Given the description of an element on the screen output the (x, y) to click on. 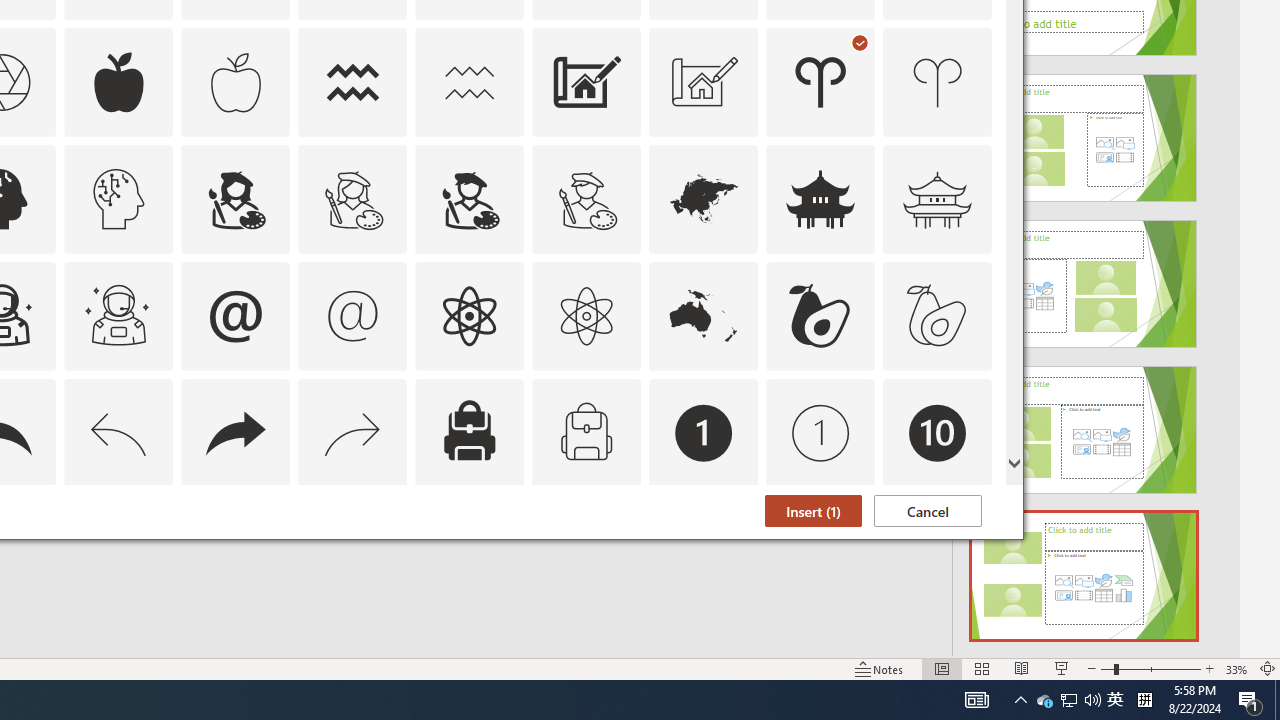
AutomationID: Icons_At_M (353, 316)
AutomationID: Icons_Badge1_M (820, 432)
AutomationID: Icons_Badge9 (820, 550)
AutomationID: Icons_Badge7_M (469, 550)
AutomationID: Icons_Badge8 (586, 550)
